Given the description of an element on the screen output the (x, y) to click on. 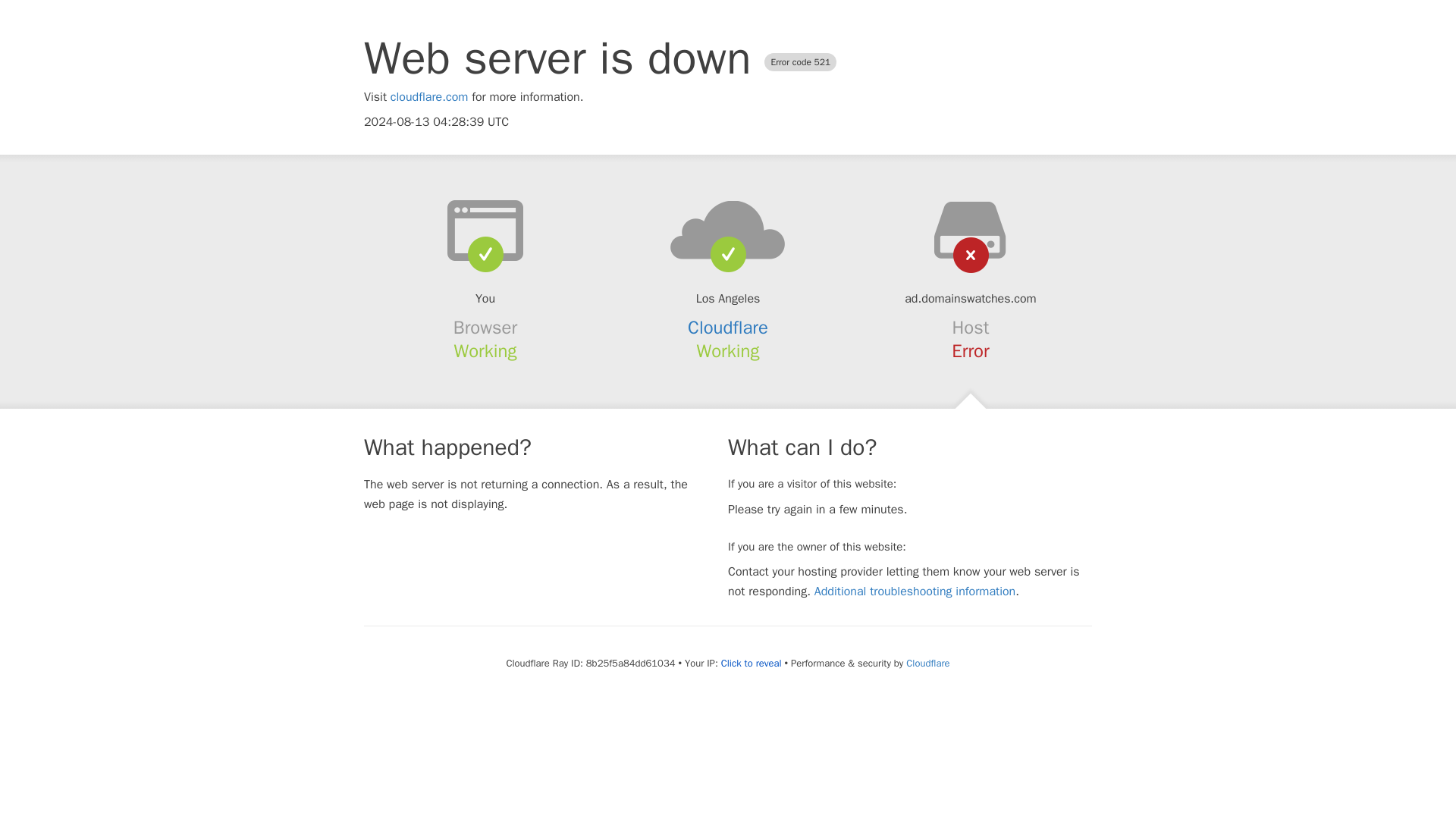
Cloudflare (727, 327)
Additional troubleshooting information (913, 590)
cloudflare.com (429, 96)
Cloudflare (927, 662)
Click to reveal (750, 663)
